Given the description of an element on the screen output the (x, y) to click on. 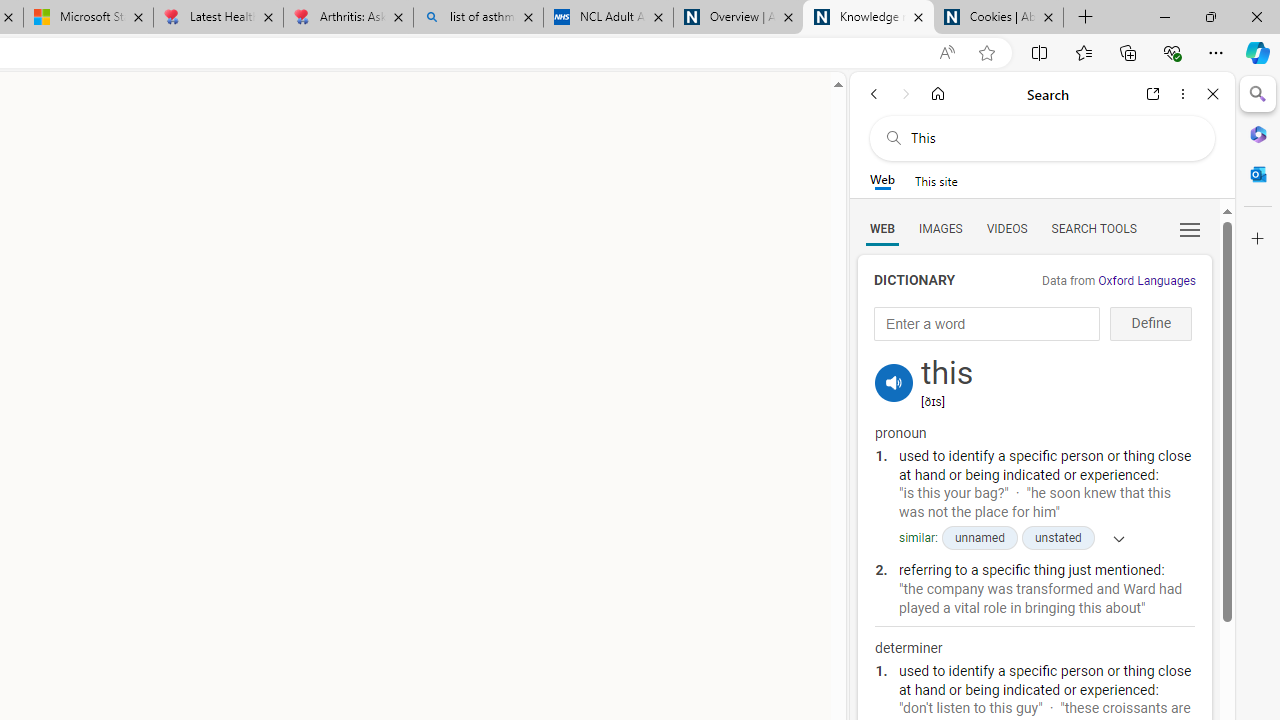
Link for logging (893, 359)
Preferences (1189, 228)
Search the web (1051, 137)
SEARCH TOOLS (1093, 228)
